Given the description of an element on the screen output the (x, y) to click on. 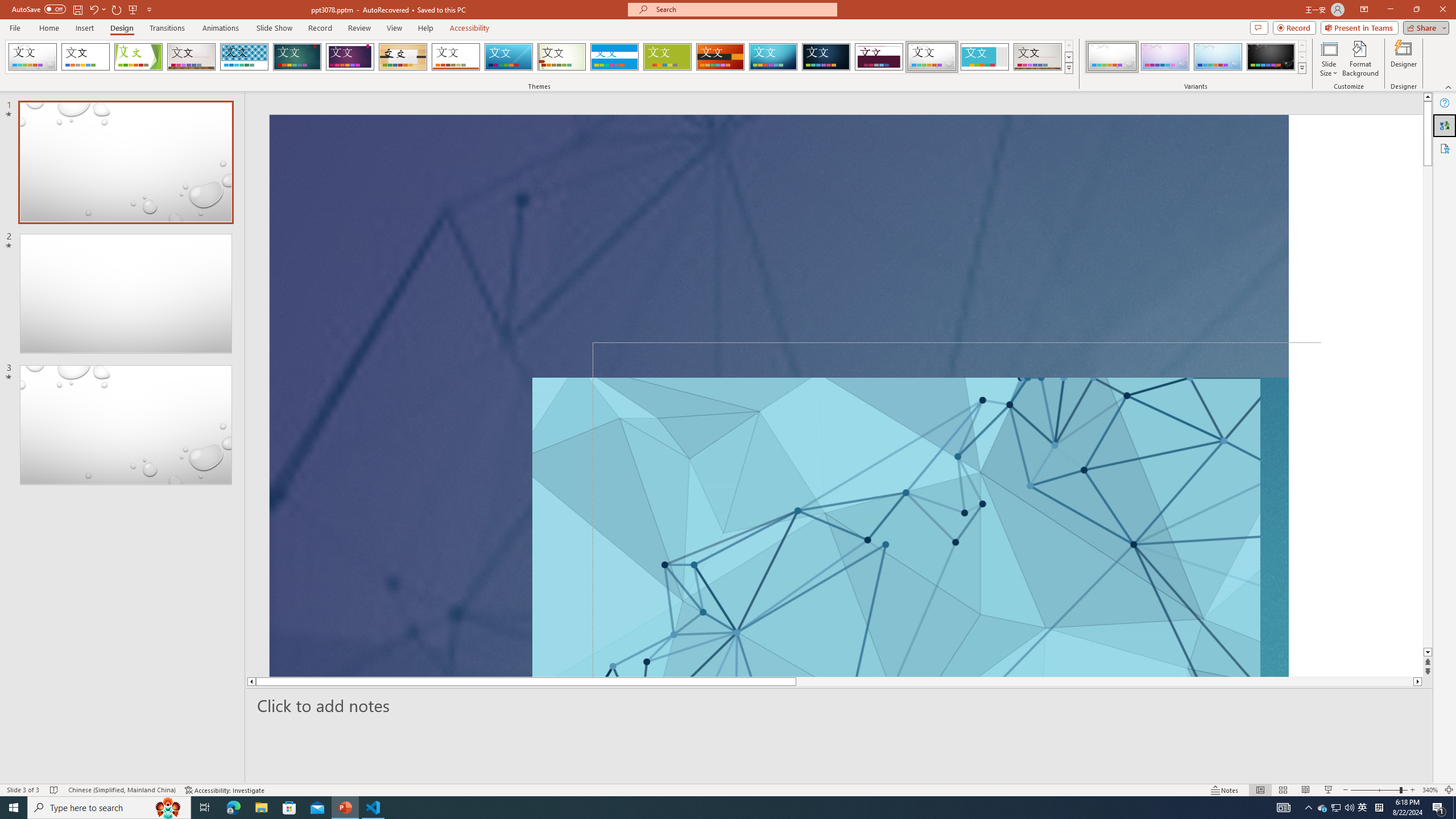
Wisp (561, 56)
AutomationID: SlideThemesGallery (539, 56)
Integral (244, 56)
Title TextBox (938, 527)
Banded (614, 56)
Droplet Variant 4 (1270, 56)
